Given the description of an element on the screen output the (x, y) to click on. 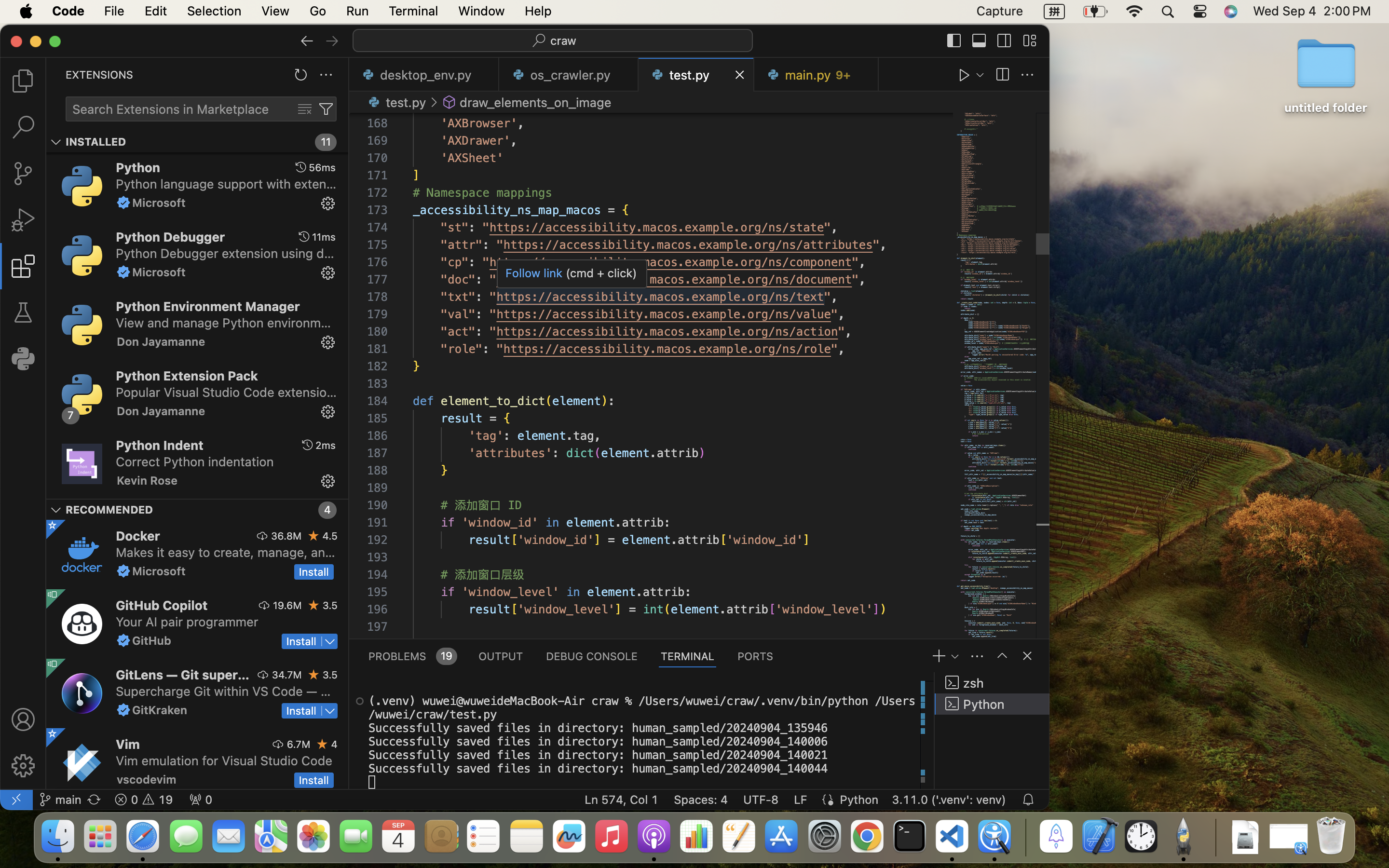
0  Element type: AXRadioButton (23, 80)
GitLens — Git supercharged Element type: AXStaticText (182, 674)
Python Element type: AXStaticText (137, 167)
vscodevim Element type: AXStaticText (146, 779)
 Element type: AXStaticText (306, 444)
